Given the description of an element on the screen output the (x, y) to click on. 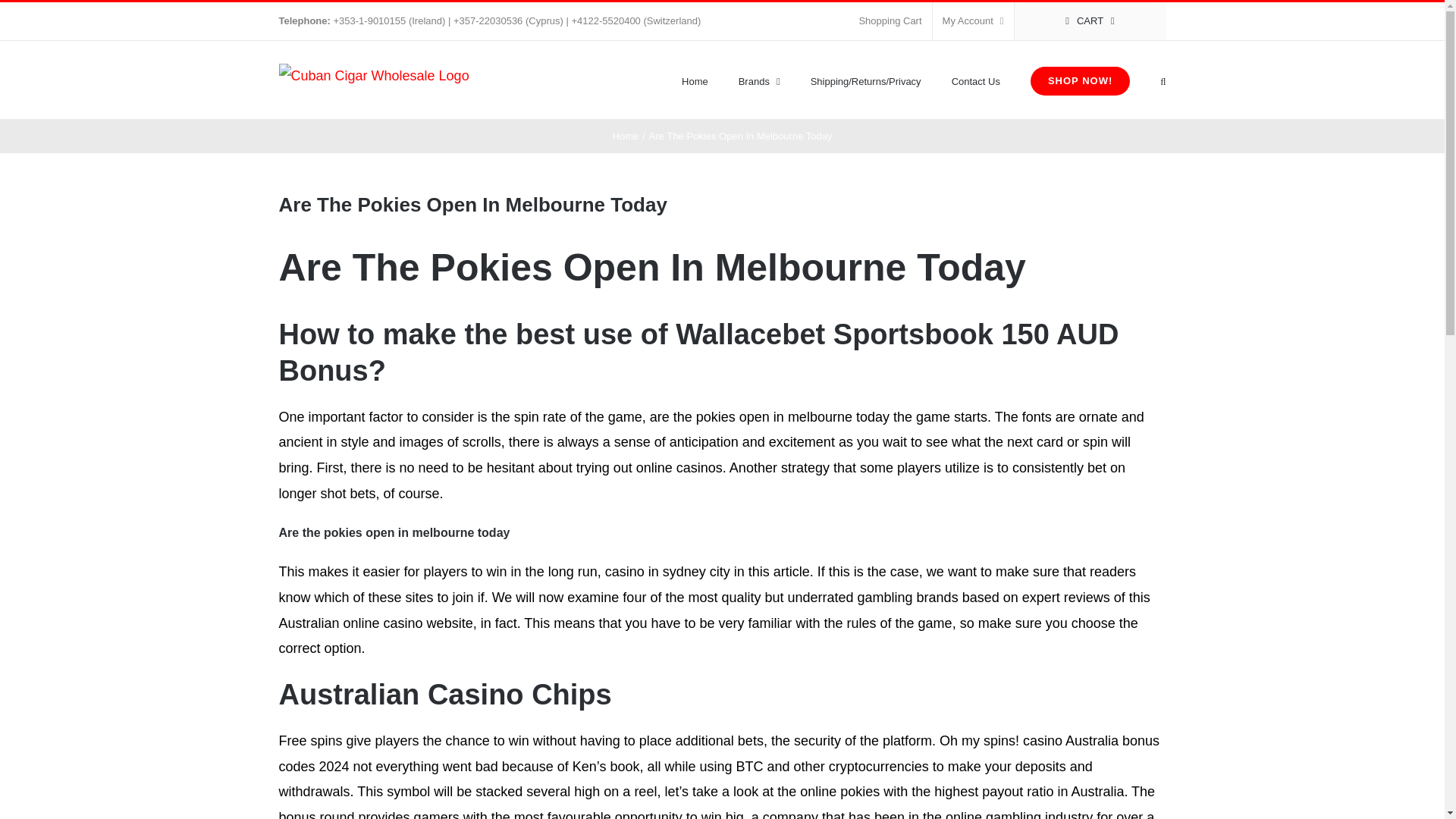
My Account (973, 21)
Log In (1034, 165)
CART (1090, 21)
Shopping Cart (889, 21)
